Given the description of an element on the screen output the (x, y) to click on. 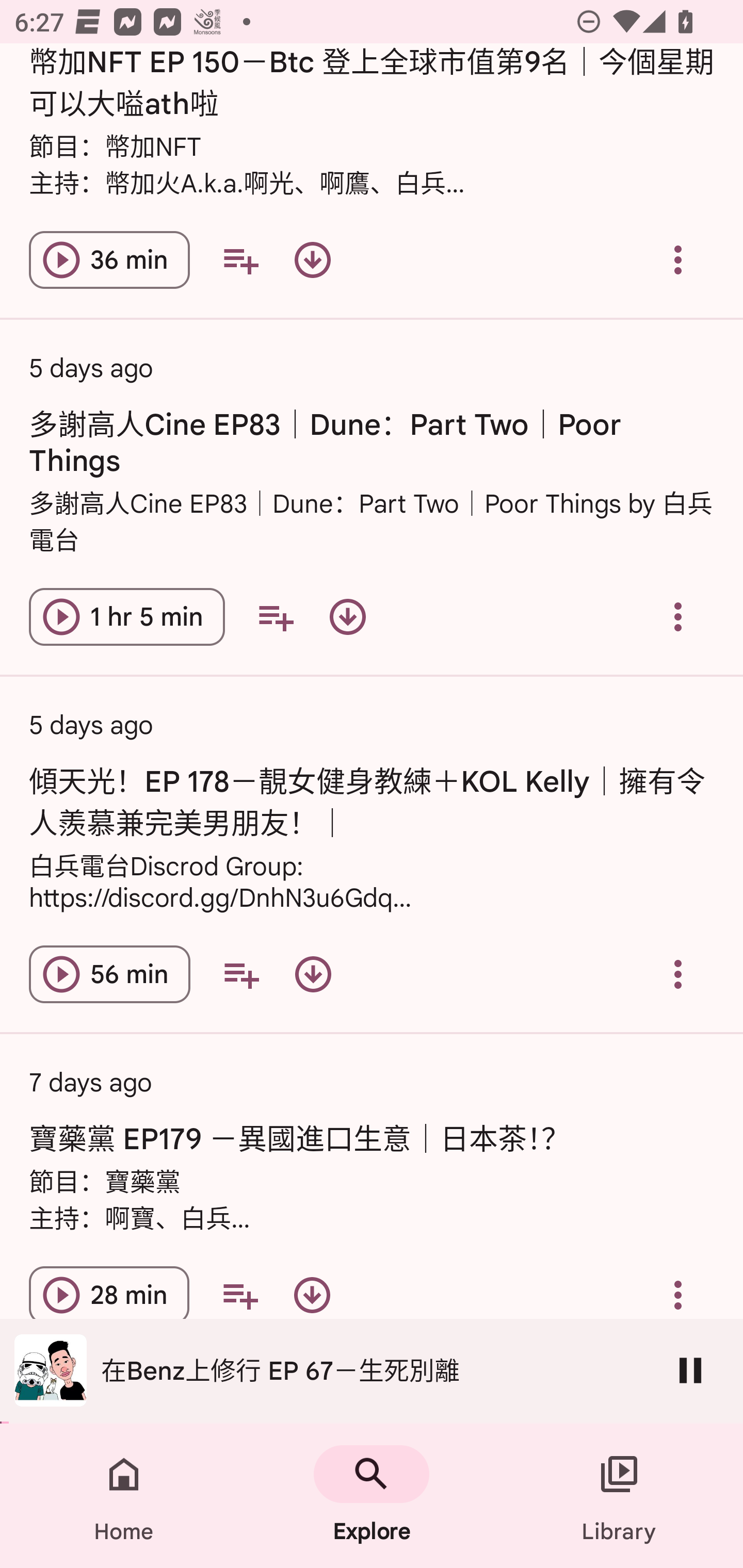
Add to your queue (240, 259)
Download episode (312, 259)
Overflow menu (677, 259)
Add to your queue (275, 616)
Download episode (347, 616)
Overflow menu (677, 616)
Add to your queue (241, 974)
Download episode (313, 974)
Overflow menu (677, 974)
Play episode 寶藥黨 EP179 －異國進口生意｜日本茶！？ 28 min (108, 1295)
Add to your queue (239, 1295)
Download episode (312, 1295)
Overflow menu (677, 1295)
白兵電台 在Benz上修行 EP 67－生死別離 Pause 18.0 (371, 1370)
Pause (690, 1370)
Home (123, 1495)
Library (619, 1495)
